Given the description of an element on the screen output the (x, y) to click on. 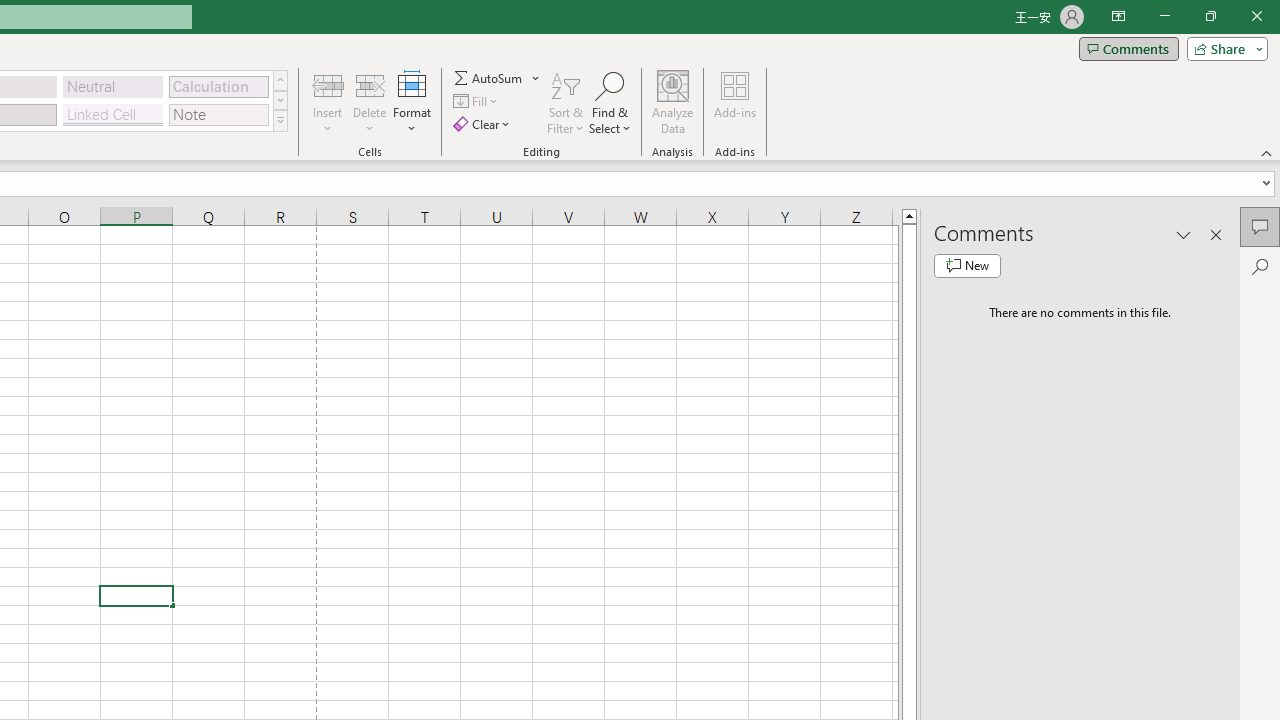
Analyze Data (673, 102)
Close pane (1215, 234)
Insert Cells (328, 84)
